Given the description of an element on the screen output the (x, y) to click on. 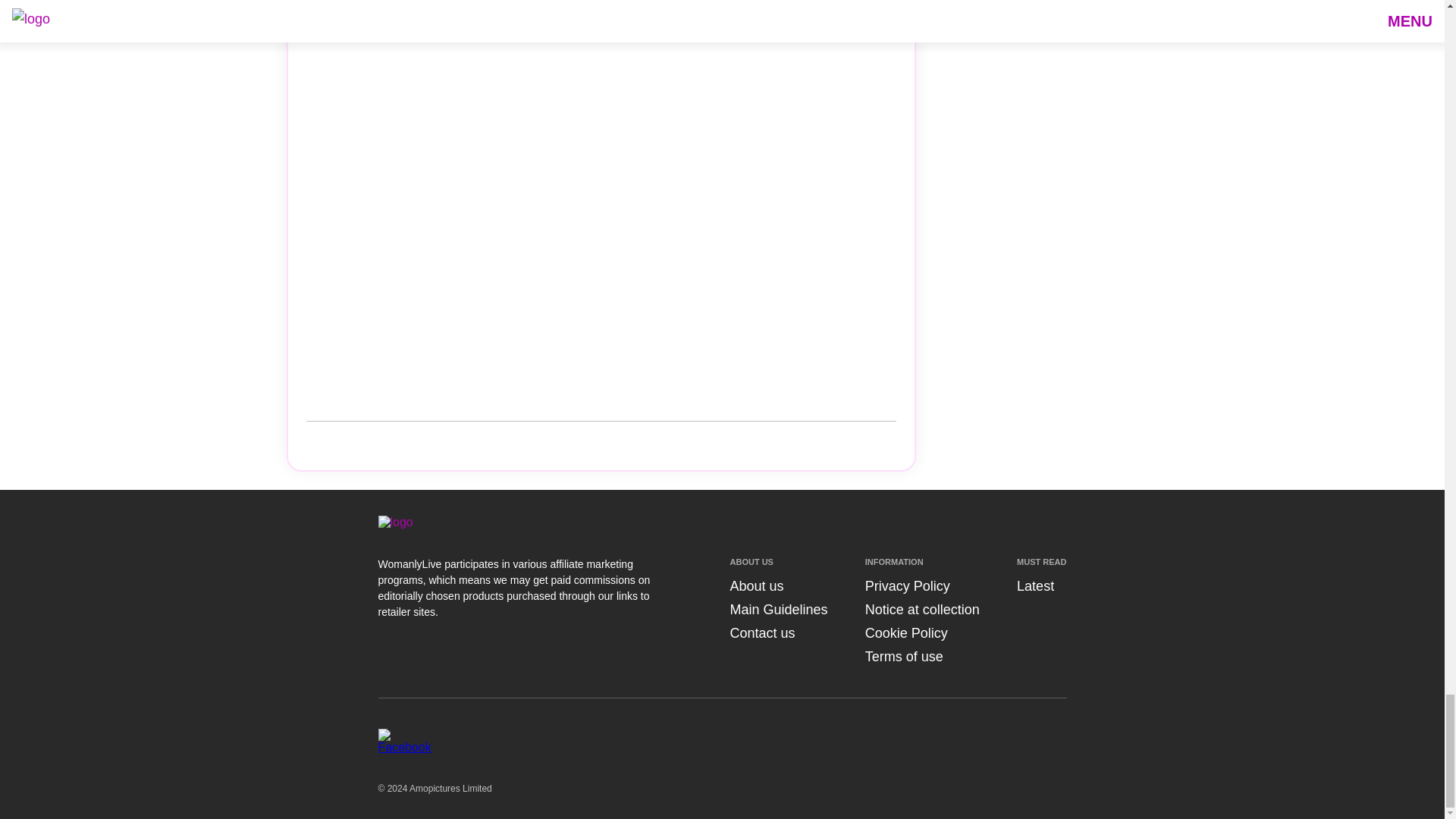
Cookie Policy (905, 632)
Main Guidelines (778, 609)
Privacy Policy (907, 585)
Notice at collection (921, 609)
Contact us (761, 632)
About us (756, 585)
